Given the description of an element on the screen output the (x, y) to click on. 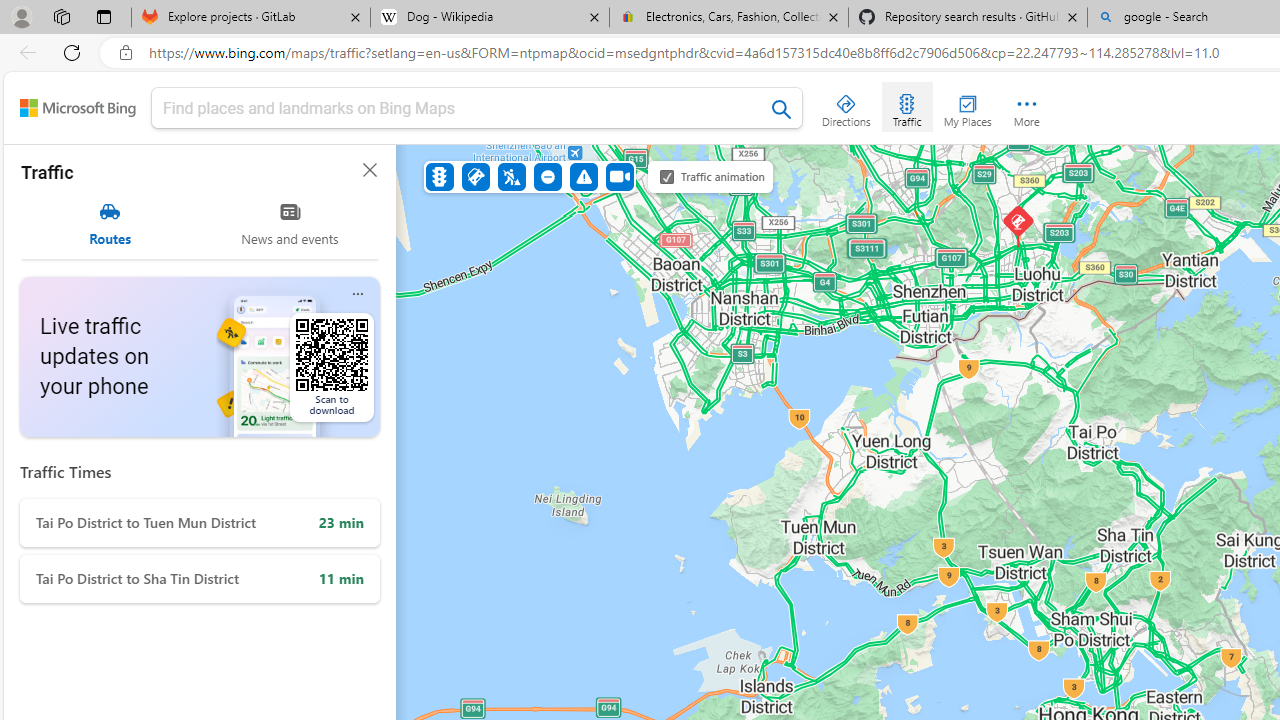
Traffic animation (667, 176)
More (1026, 106)
Electronics, Cars, Fashion, Collectibles & More | eBay (729, 17)
Search Bing Maps (781, 109)
Construction (511, 176)
My Places (967, 106)
Directions (846, 106)
Class: inputbox (477, 111)
Add a search (461, 107)
Back to Bing search (77, 107)
